Given the description of an element on the screen output the (x, y) to click on. 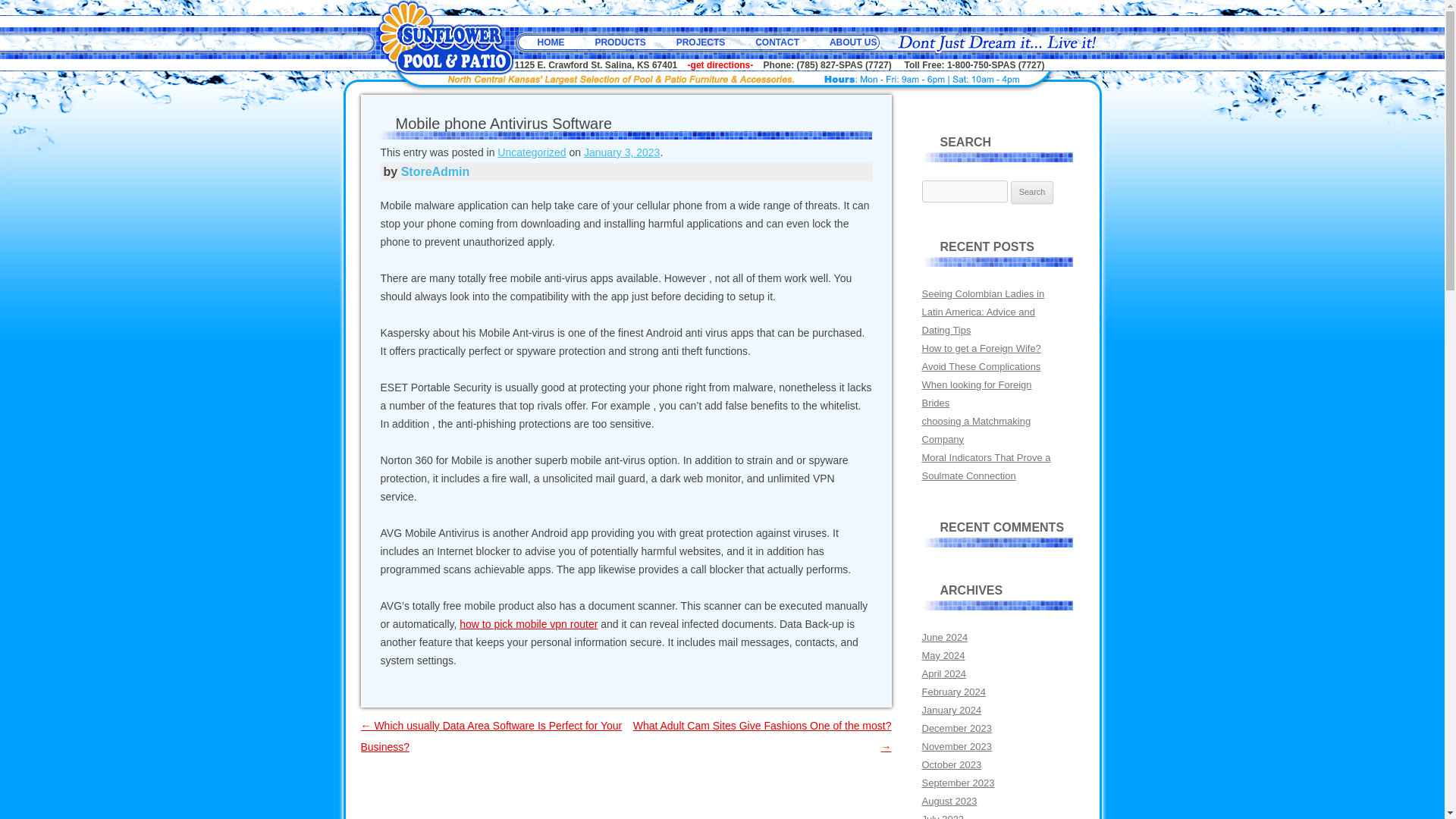
CONTACT (777, 42)
September 2023 (957, 782)
October 2023 (951, 764)
6:00 pm (621, 152)
August 2023 (948, 800)
Avoid These Complications When looking for Foreign Brides (981, 384)
View all posts by StoreAdmin (435, 171)
Search (1032, 191)
how to pick mobile vpn router (528, 623)
May 2024 (943, 655)
January 2024 (951, 709)
February 2024 (953, 691)
ABOUT US (853, 42)
StoreAdmin (435, 171)
